Given the description of an element on the screen output the (x, y) to click on. 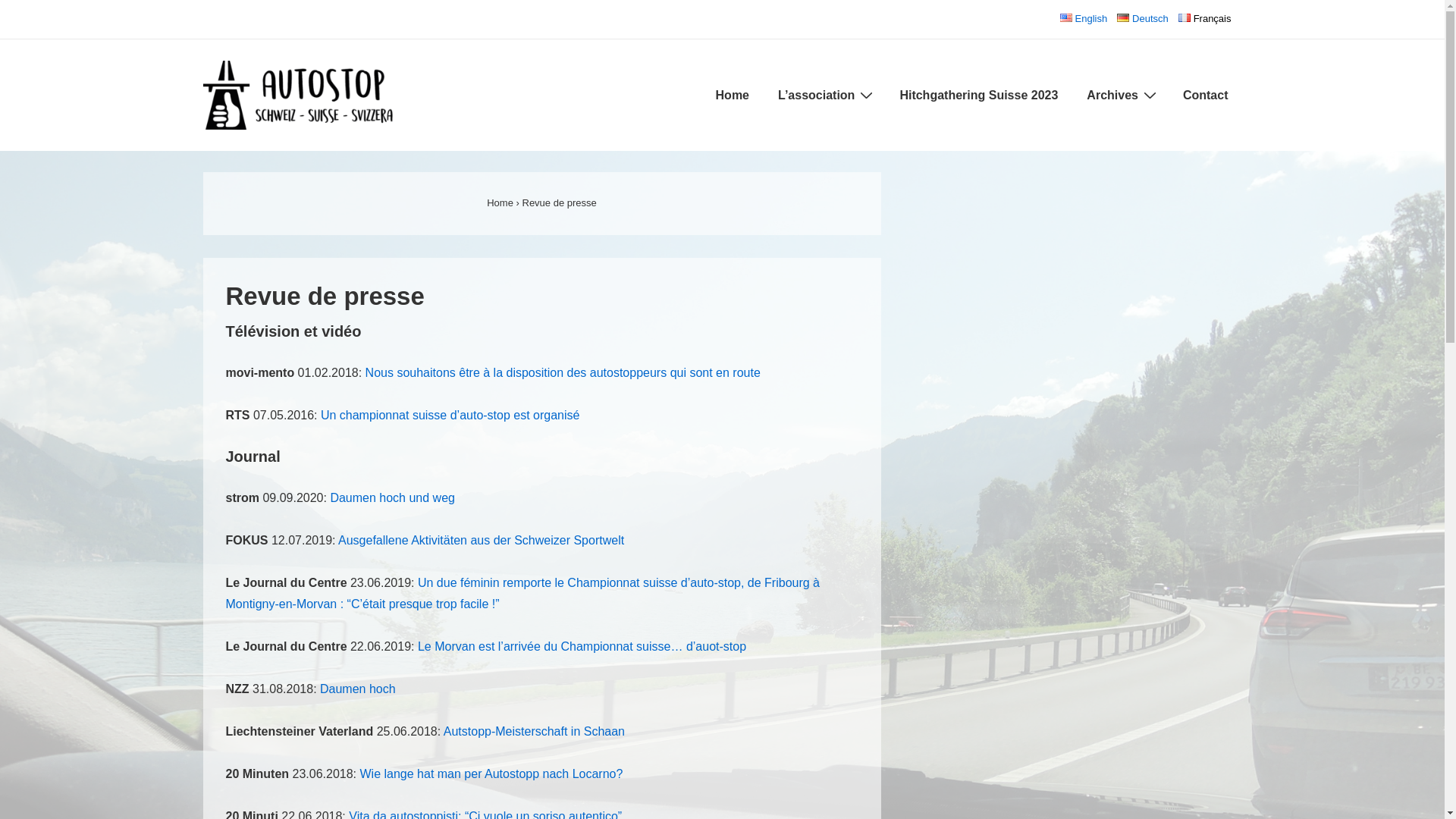
Hitchgathering Suisse 2023 Element type: text (978, 95)
Archives Element type: text (1120, 95)
Daumen hoch Element type: text (357, 688)
Deutsch Element type: text (1142, 18)
Contact Element type: text (1205, 95)
Daumen hoch und weg Element type: text (392, 497)
Autstopp-Meisterschaft in Schaan Element type: text (533, 730)
Home Element type: text (732, 95)
Home Element type: text (499, 202)
Wie lange hat man per Autostopp nach Locarno? Element type: text (490, 773)
English Element type: text (1083, 18)
